Given the description of an element on the screen output the (x, y) to click on. 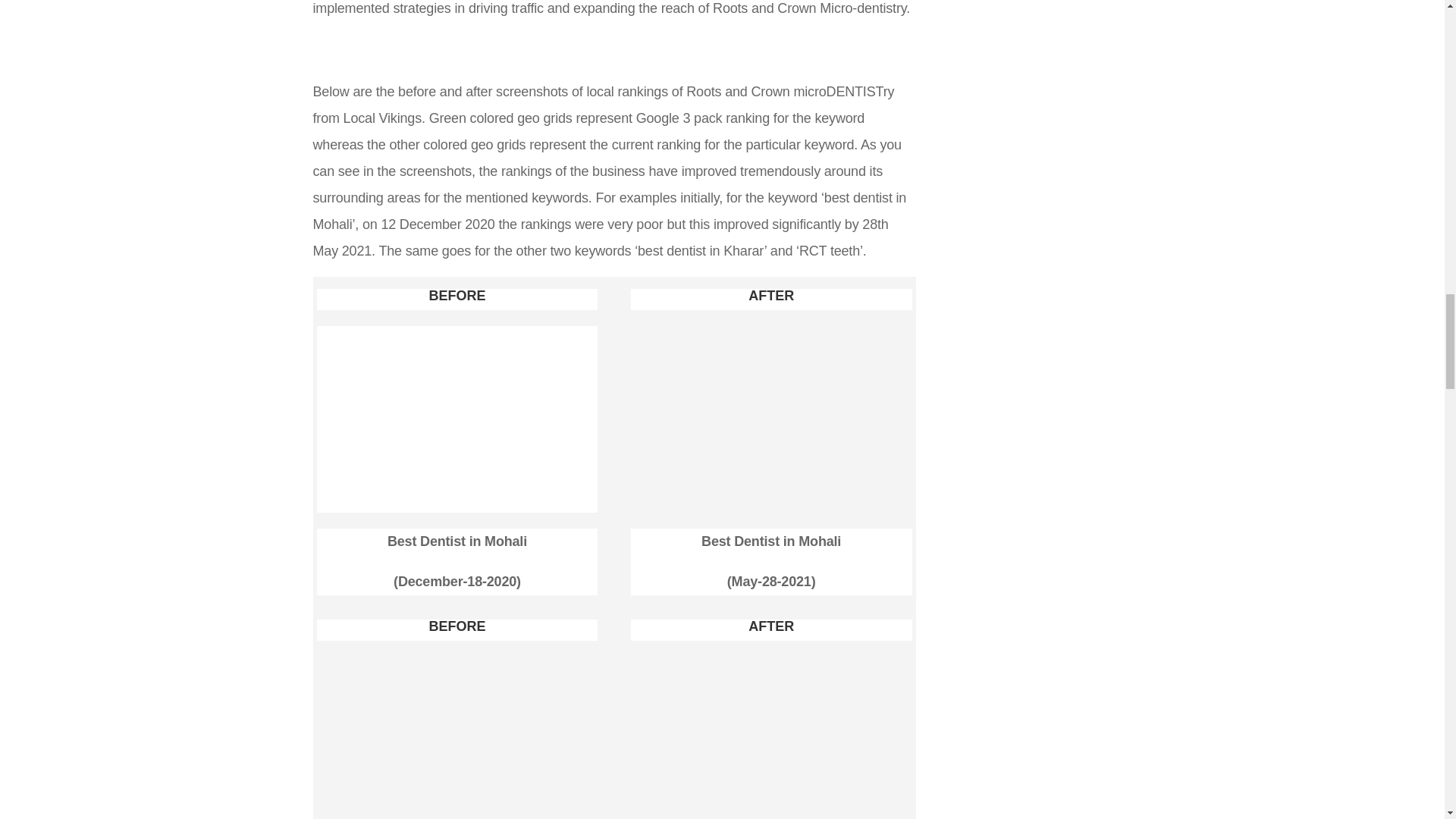
best-dentist-in-kharar-20201218 (457, 737)
Best dentist in mohali-December-18-2020 (457, 418)
best dentist in mohali before optimization (457, 512)
best-dentist-in-kharar-20210528 (771, 737)
Best dentist in mohali-May-28-2021 (771, 418)
